Given the description of an element on the screen output the (x, y) to click on. 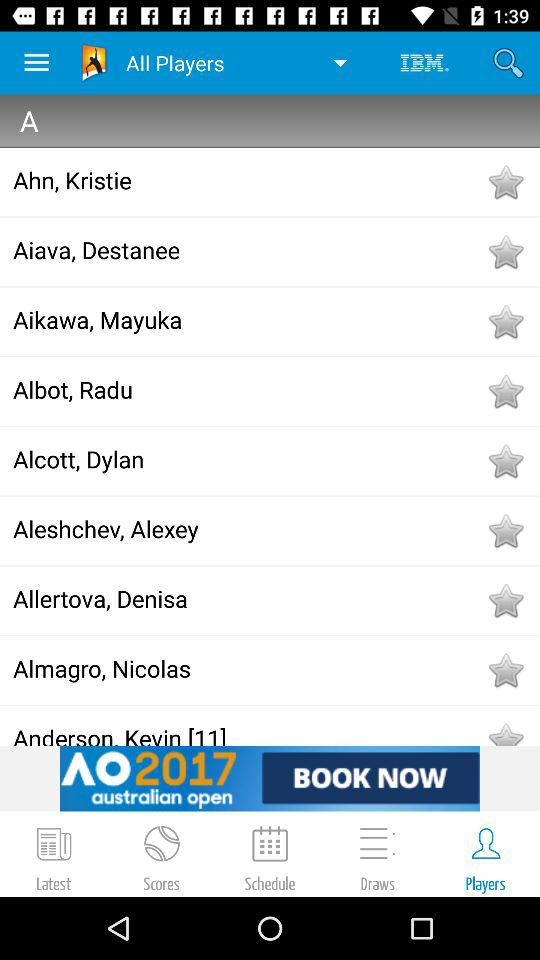
turn off the icon to the right of all players icon (424, 62)
